Given the description of an element on the screen output the (x, y) to click on. 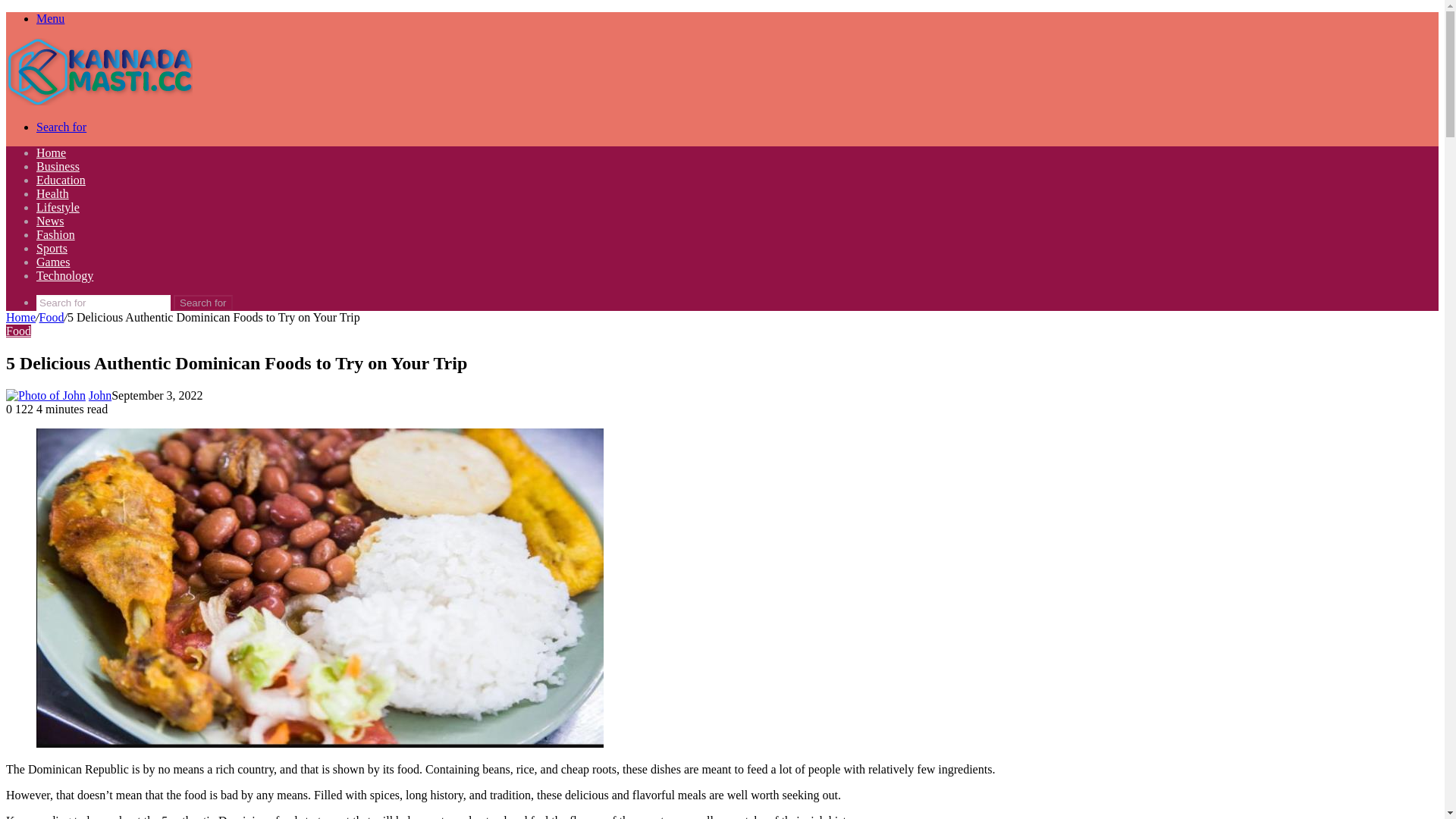
Kannadamasti Element type: hover (99, 100)
News Element type: text (49, 220)
Search for Element type: text (202, 302)
Business Element type: text (57, 166)
Home Element type: text (50, 152)
Technology Element type: text (64, 275)
Sports Element type: text (51, 247)
John Element type: text (99, 395)
Search for Element type: hover (103, 302)
Health Element type: text (52, 193)
Fashion Element type: text (55, 234)
Search for Element type: text (61, 126)
Food Element type: text (51, 316)
Food Element type: text (18, 330)
Home Element type: text (20, 316)
Menu Element type: text (50, 18)
Lifestyle Element type: text (57, 206)
Games Element type: text (52, 261)
Education Element type: text (60, 179)
